Given the description of an element on the screen output the (x, y) to click on. 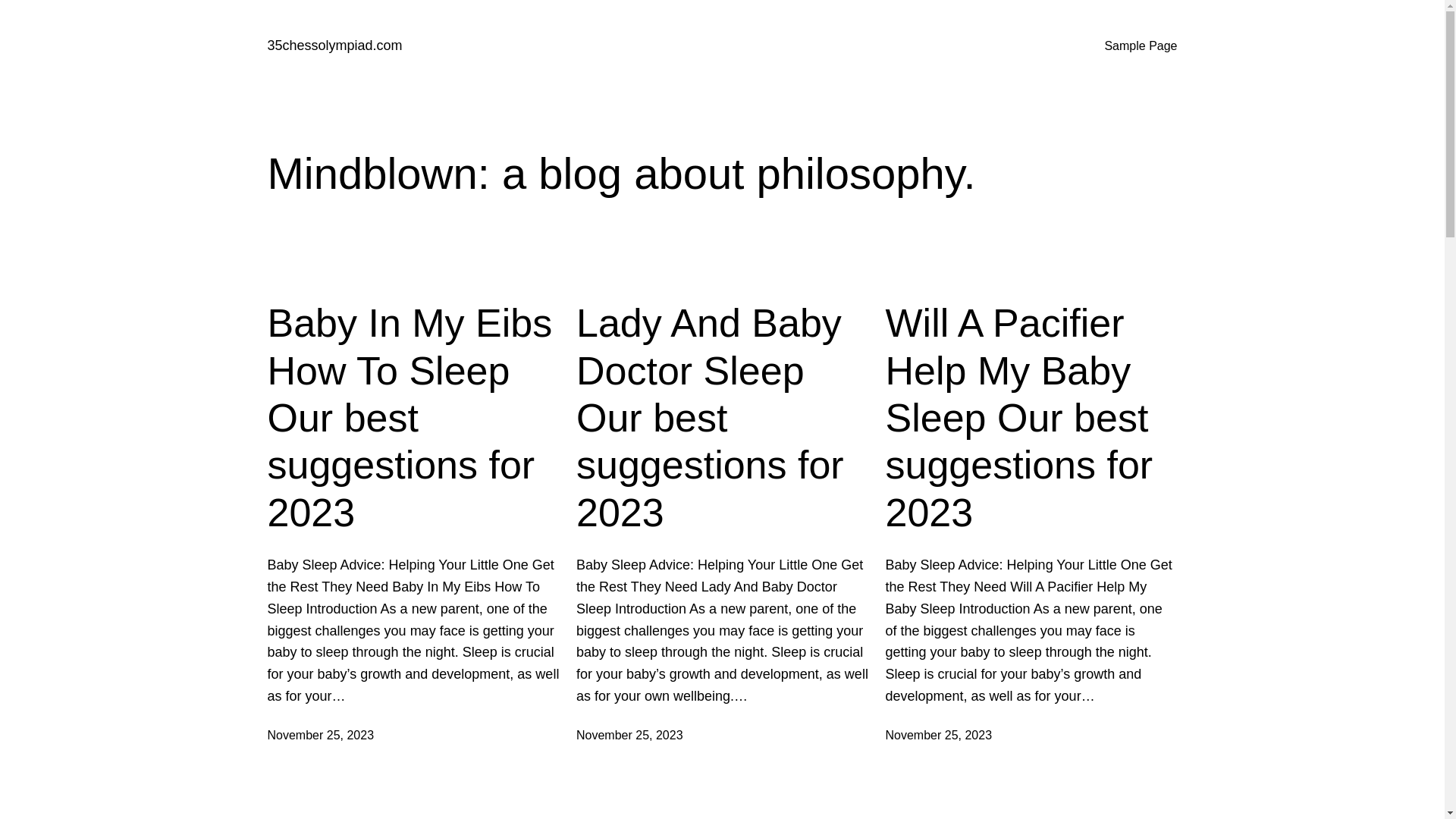
November 25, 2023 Element type: text (319, 734)
November 25, 2023 Element type: text (629, 734)
35chessolympiad.com Element type: text (333, 45)
Sample Page Element type: text (1140, 46)
Lady And Baby Doctor Sleep Our best suggestions for 2023 Element type: text (722, 417)
Baby In My Eibs How To Sleep Our best suggestions for 2023 Element type: text (412, 417)
November 25, 2023 Element type: text (938, 734)
